Given the description of an element on the screen output the (x, y) to click on. 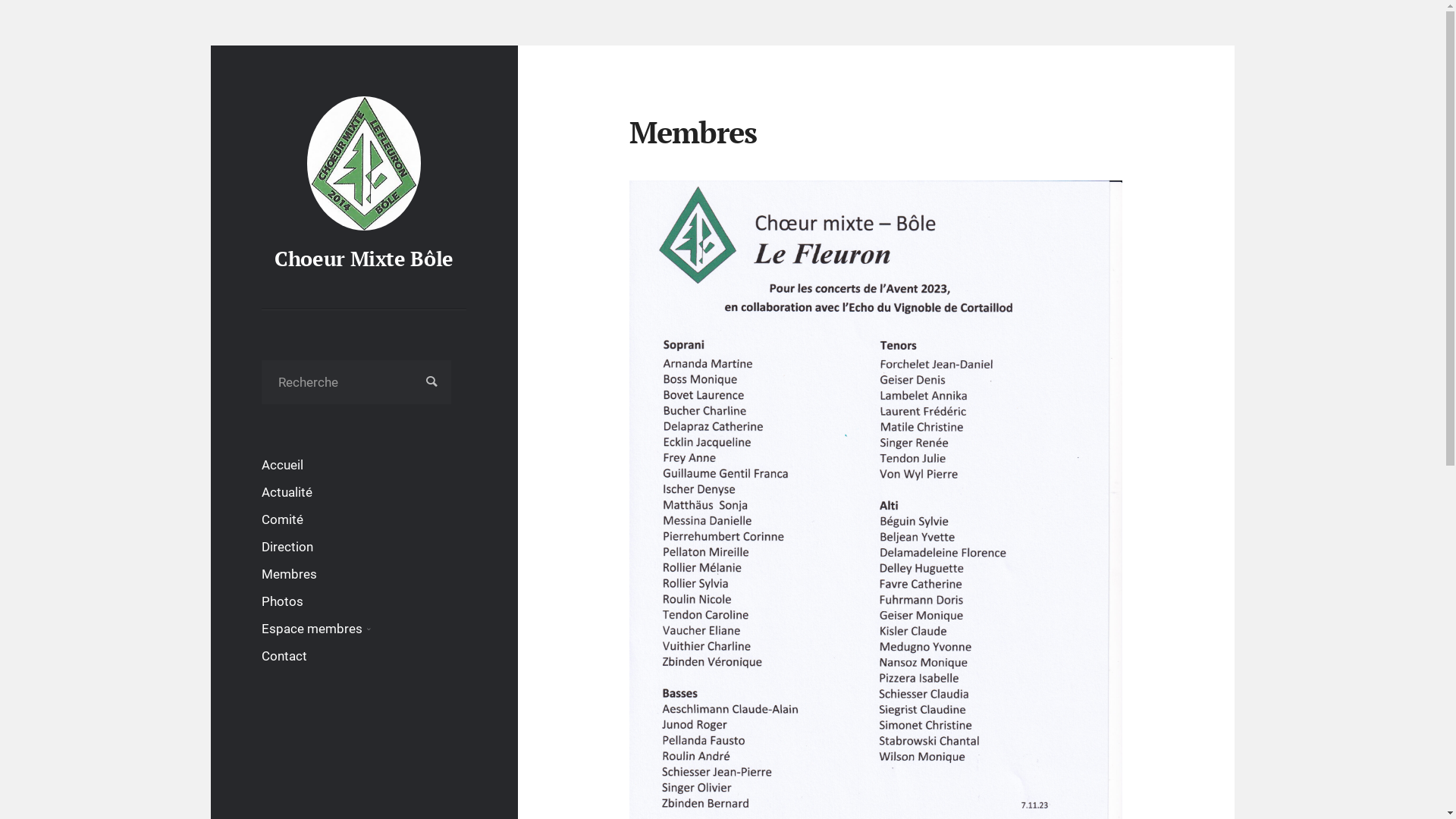
Contact Element type: text (284, 655)
Membres Element type: text (288, 573)
Photos Element type: text (282, 600)
Espace membres Element type: text (311, 628)
Direction Element type: text (287, 546)
Accueil Element type: text (282, 464)
